Given the description of an element on the screen output the (x, y) to click on. 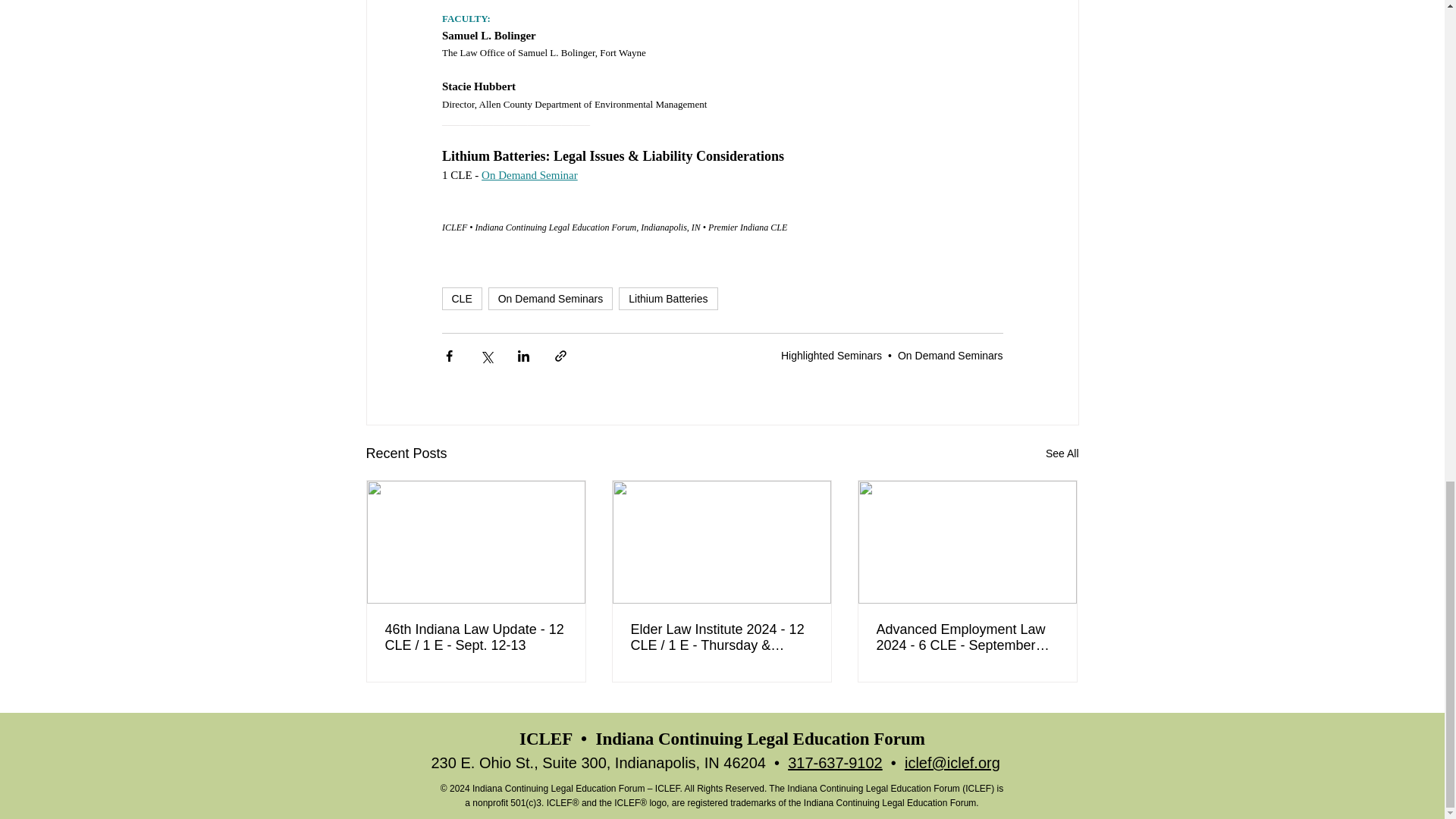
On Demand Seminar (529, 174)
On Demand Seminars (950, 355)
See All (1061, 454)
Lithium Batteries (667, 298)
CLE (461, 298)
On Demand Seminars (549, 298)
Highlighted Seminars (831, 355)
